Given the description of an element on the screen output the (x, y) to click on. 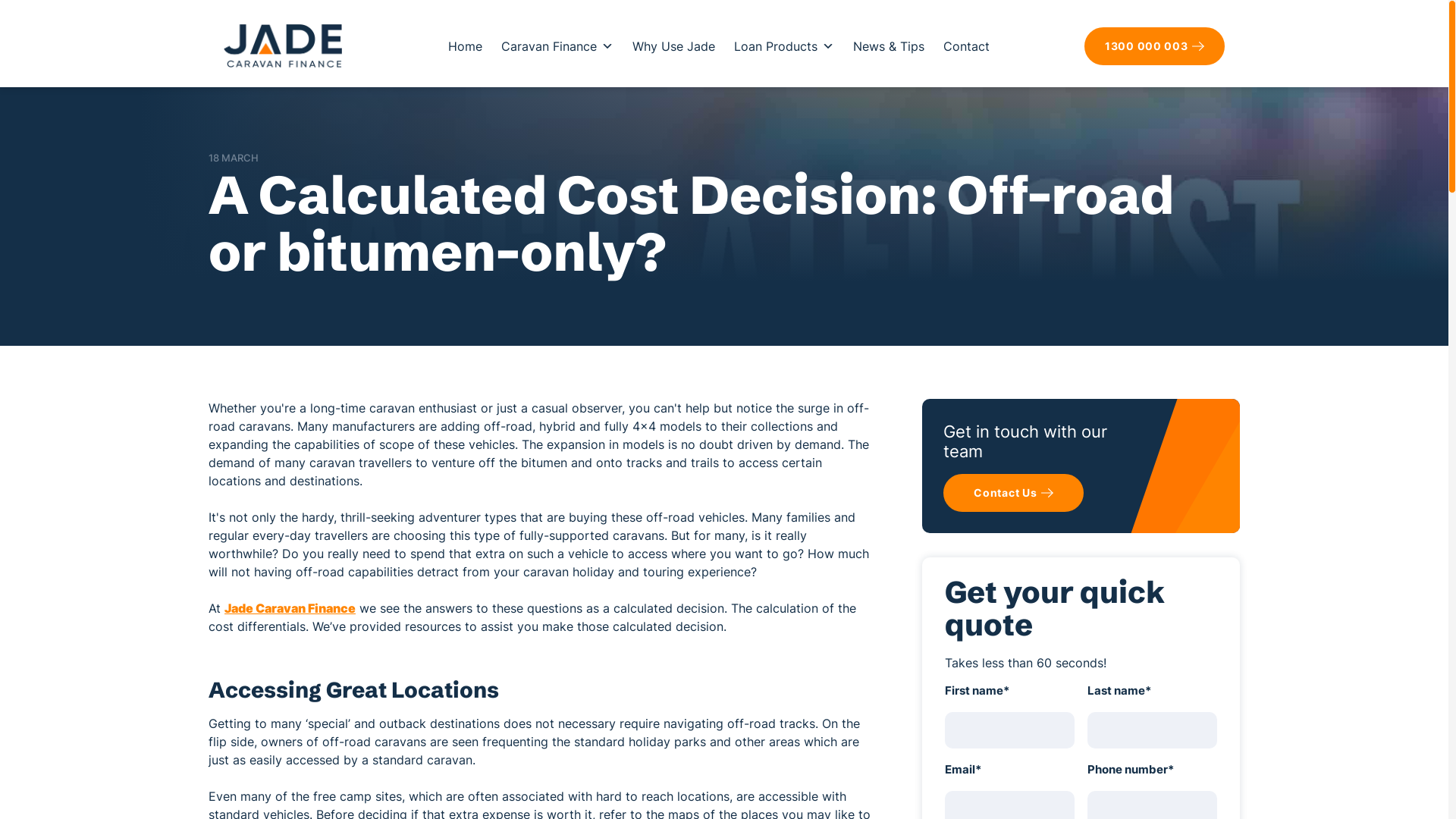
Loan Products Element type: text (783, 45)
Contact Us Element type: text (1013, 492)
News & Tips Element type: text (888, 45)
1300 000 003 Element type: text (1154, 46)
Jade Caravan Finance Element type: text (289, 607)
Caravan Finance Element type: text (557, 45)
Why Use Jade Element type: text (672, 45)
Home Element type: text (465, 45)
Contact Element type: text (965, 45)
